Given the description of an element on the screen output the (x, y) to click on. 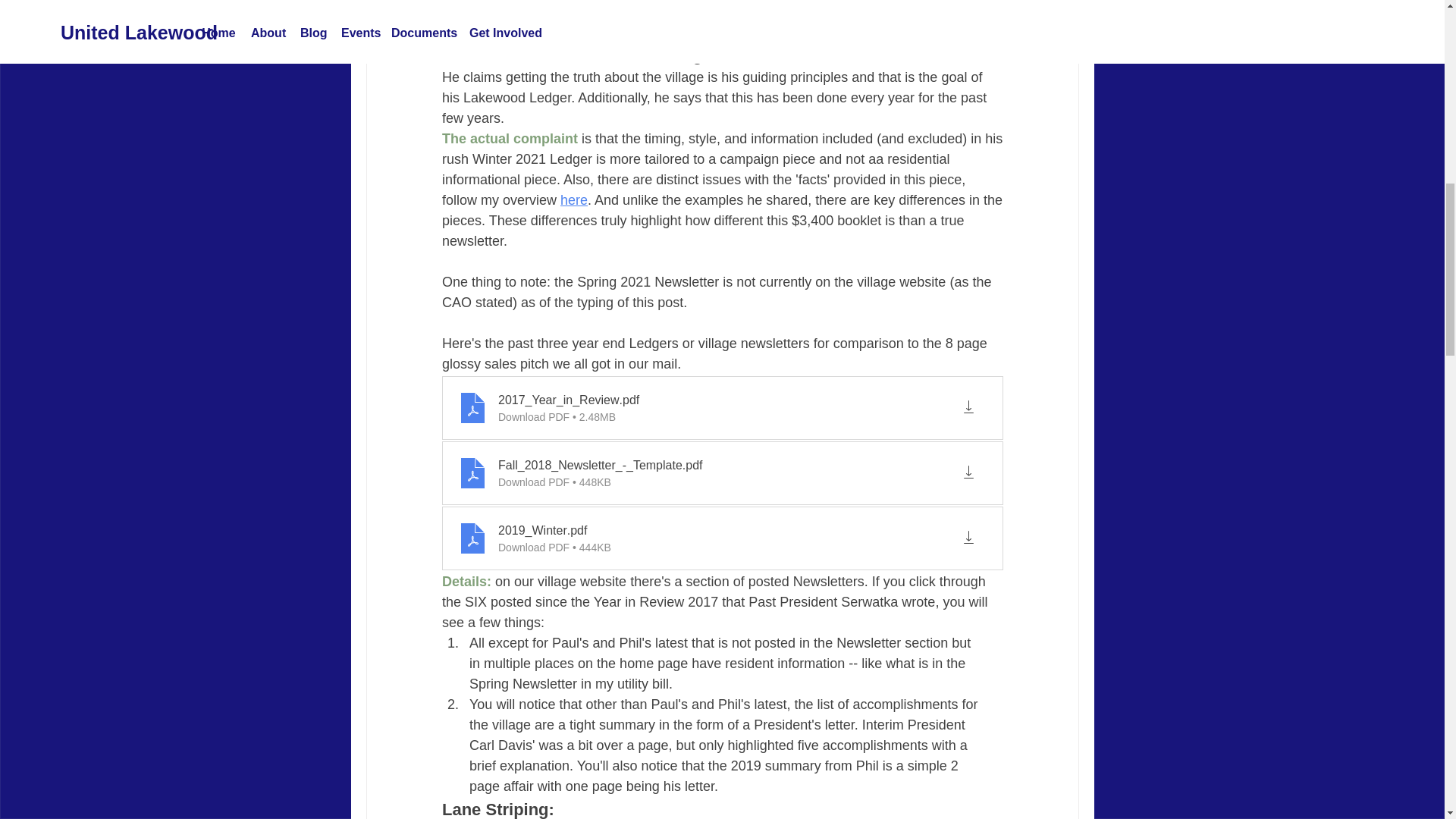
here (574, 200)
